Given the description of an element on the screen output the (x, y) to click on. 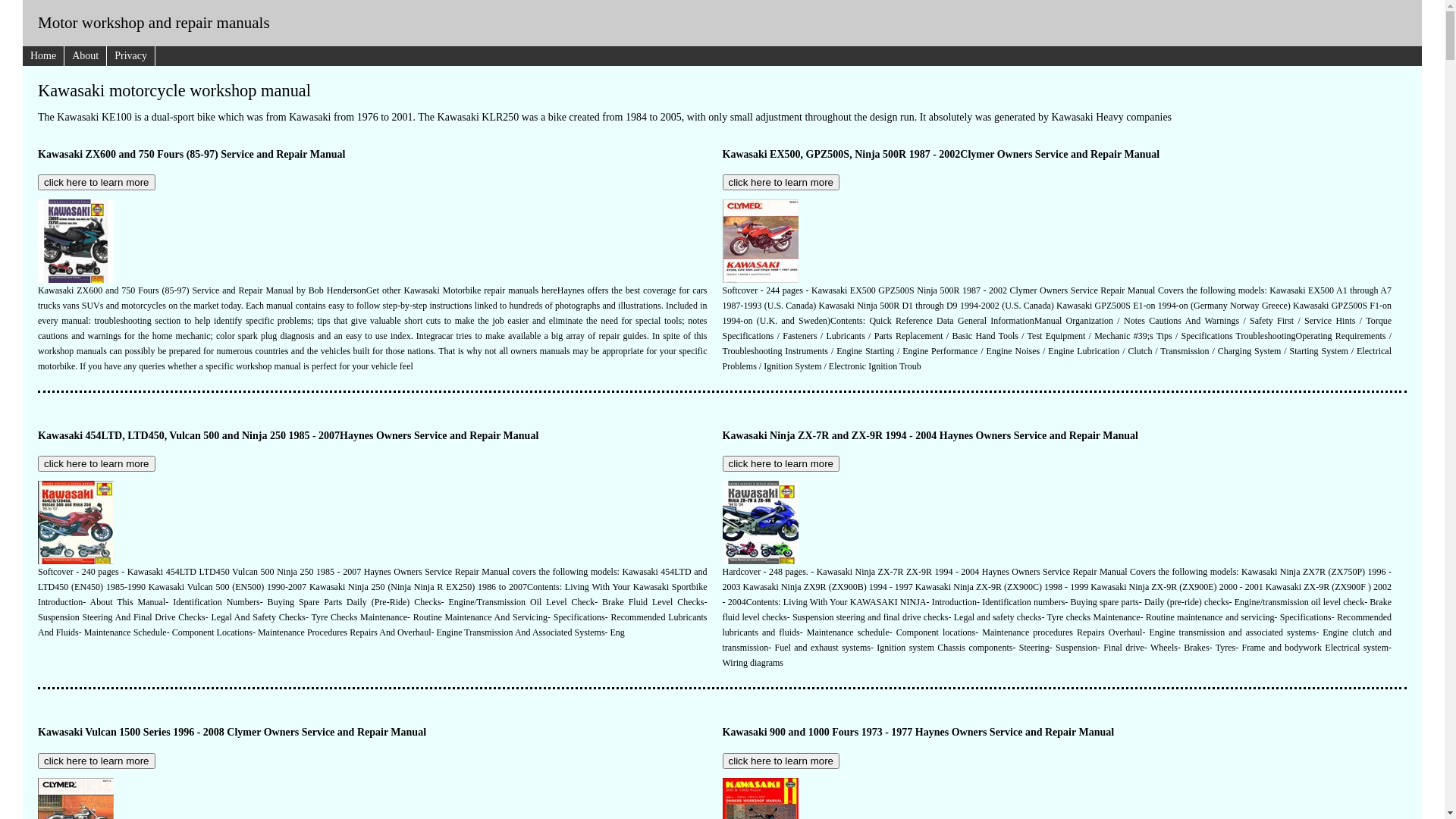
click here to learn more Element type: text (96, 760)
click here to learn more Element type: text (96, 182)
click here to learn more Element type: text (96, 463)
Privacy Element type: text (130, 55)
Home Element type: text (43, 55)
click here to learn more Element type: text (780, 182)
About Element type: text (85, 55)
click here to learn more Element type: text (780, 760)
click here to learn more Element type: text (780, 463)
